Given the description of an element on the screen output the (x, y) to click on. 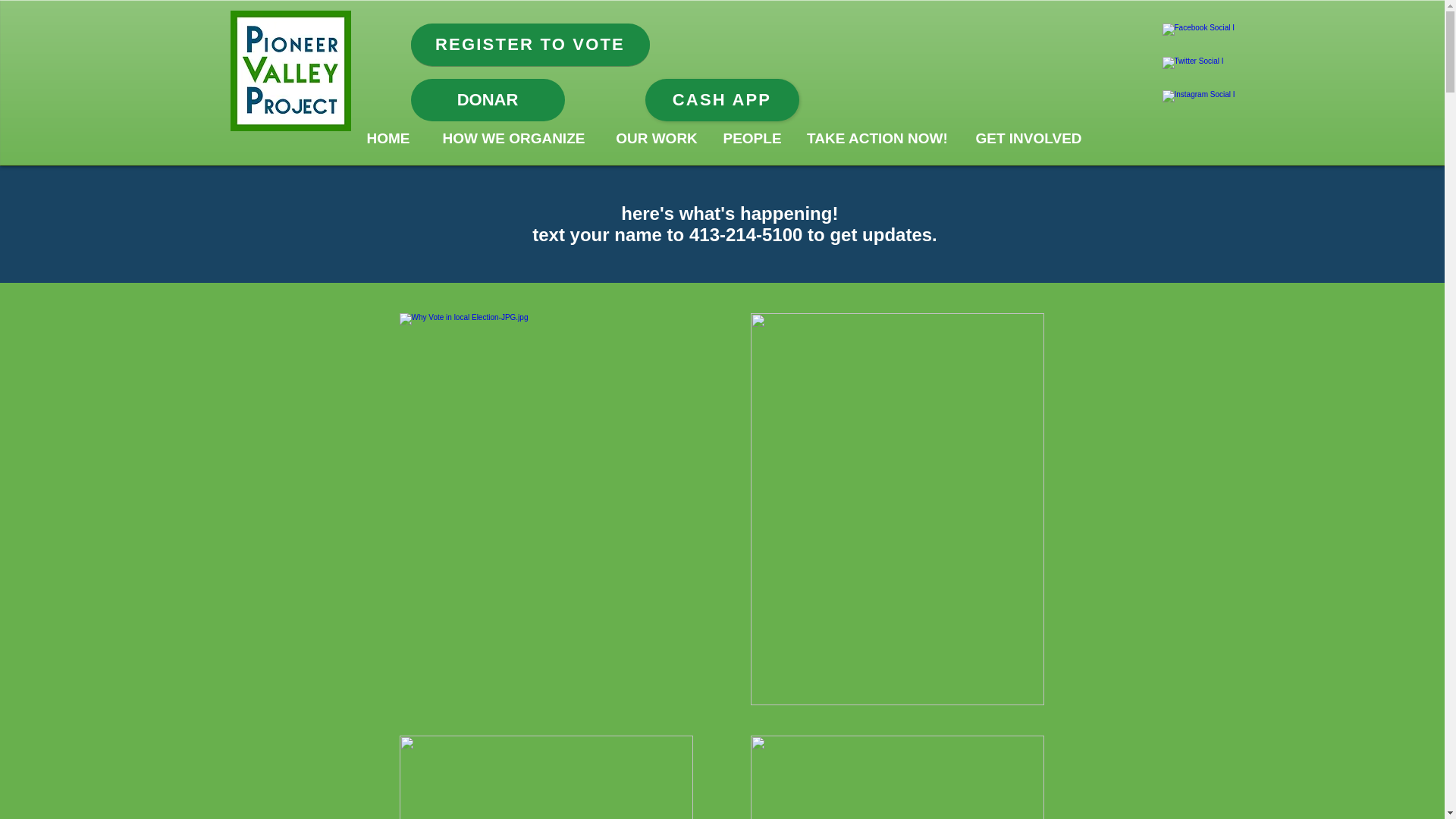
HOME (387, 138)
GET INVOLVED (1027, 138)
REGISTER TO VOTE (529, 44)
DONAR (487, 99)
OUR WORK (656, 138)
PEOPLE (750, 138)
CASH APP (721, 99)
HOW WE ORGANIZE (514, 138)
TAKE ACTION NOW! (877, 138)
